Given the description of an element on the screen output the (x, y) to click on. 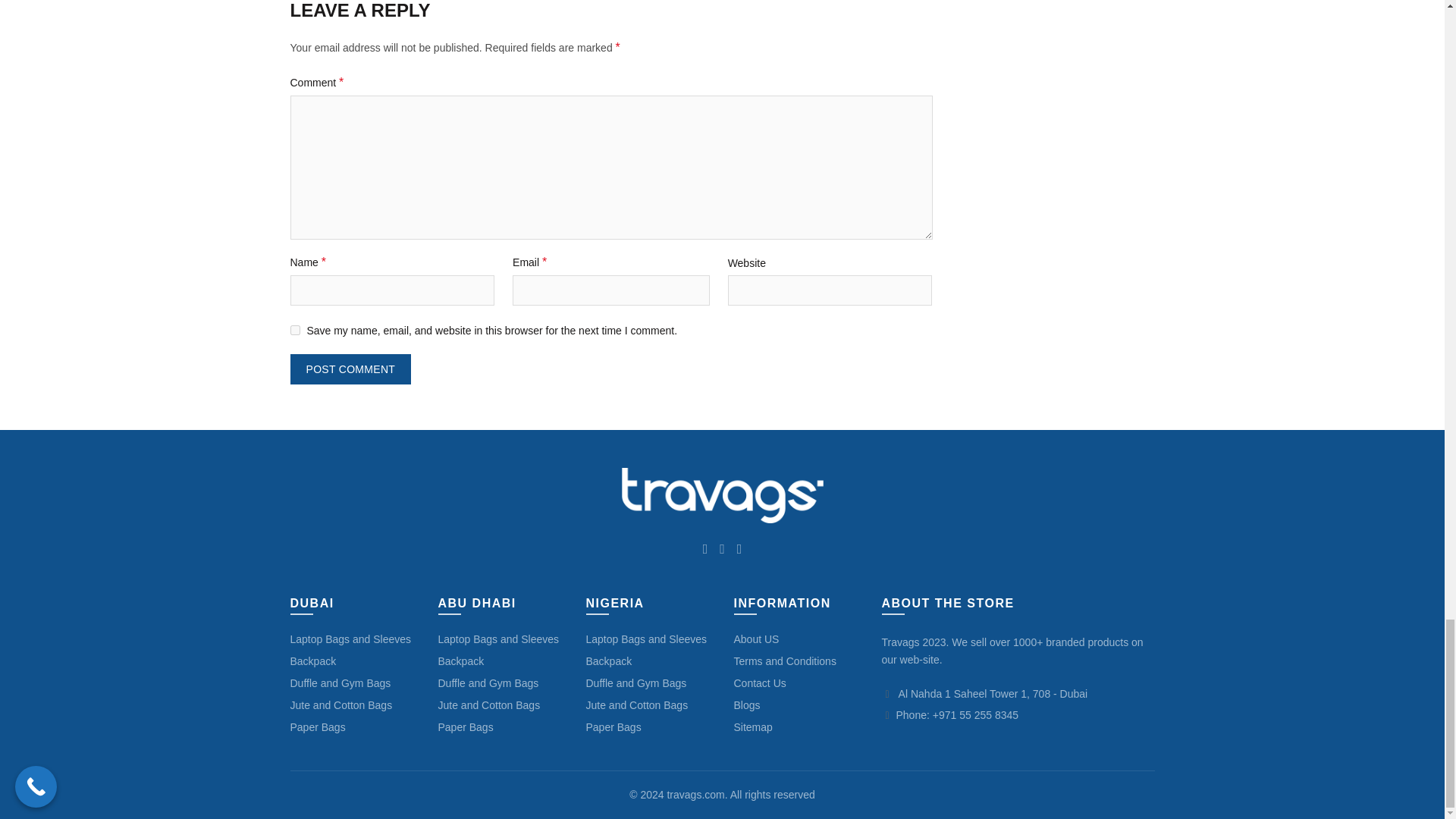
yes (294, 329)
Post Comment (349, 368)
